Given the description of an element on the screen output the (x, y) to click on. 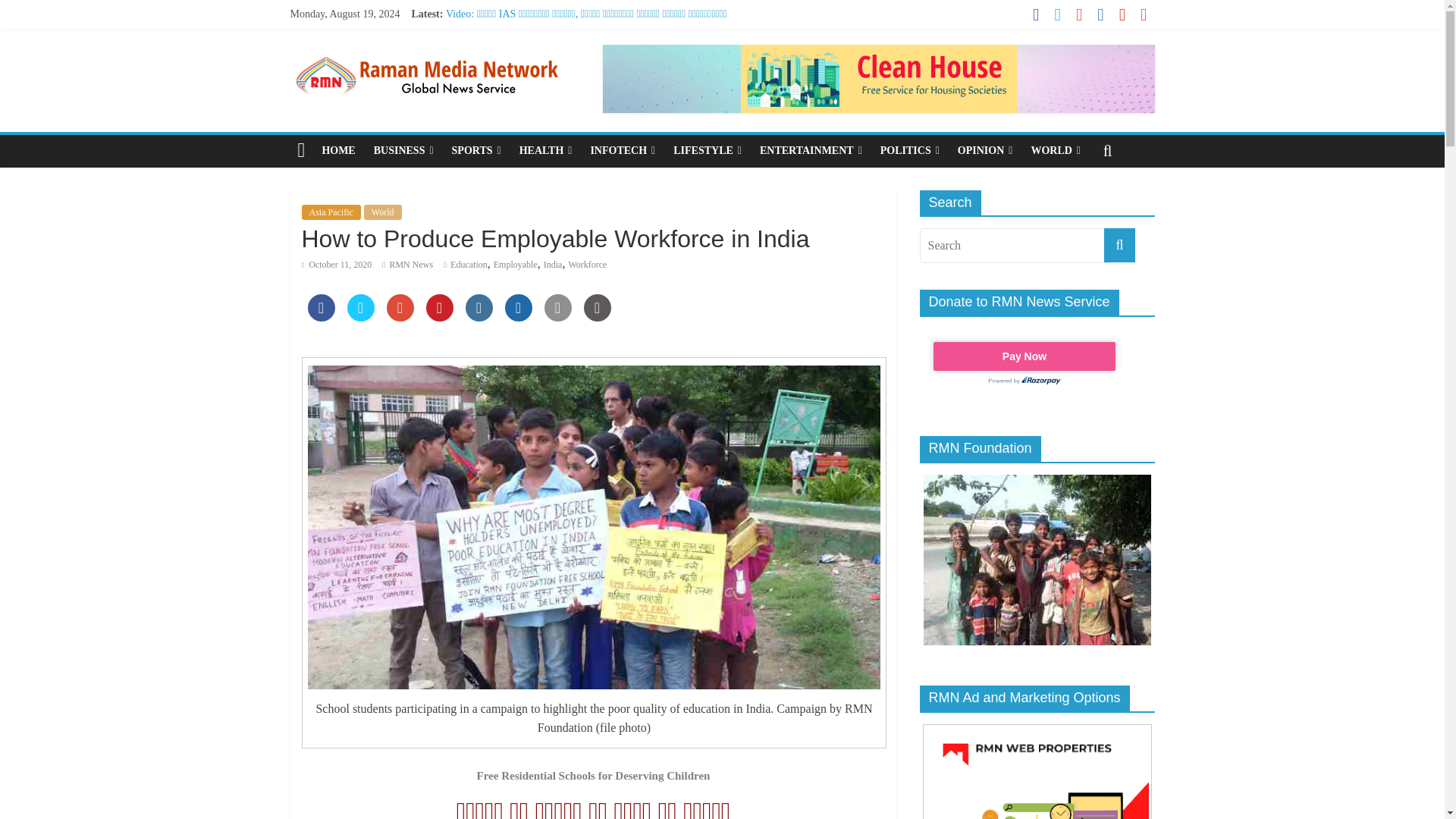
8:03 PM (336, 264)
ENTERTAINMENT (810, 151)
SPORTS (476, 151)
Raman Media Network (425, 53)
HOME (338, 151)
INFOTECH (621, 151)
